Given the description of an element on the screen output the (x, y) to click on. 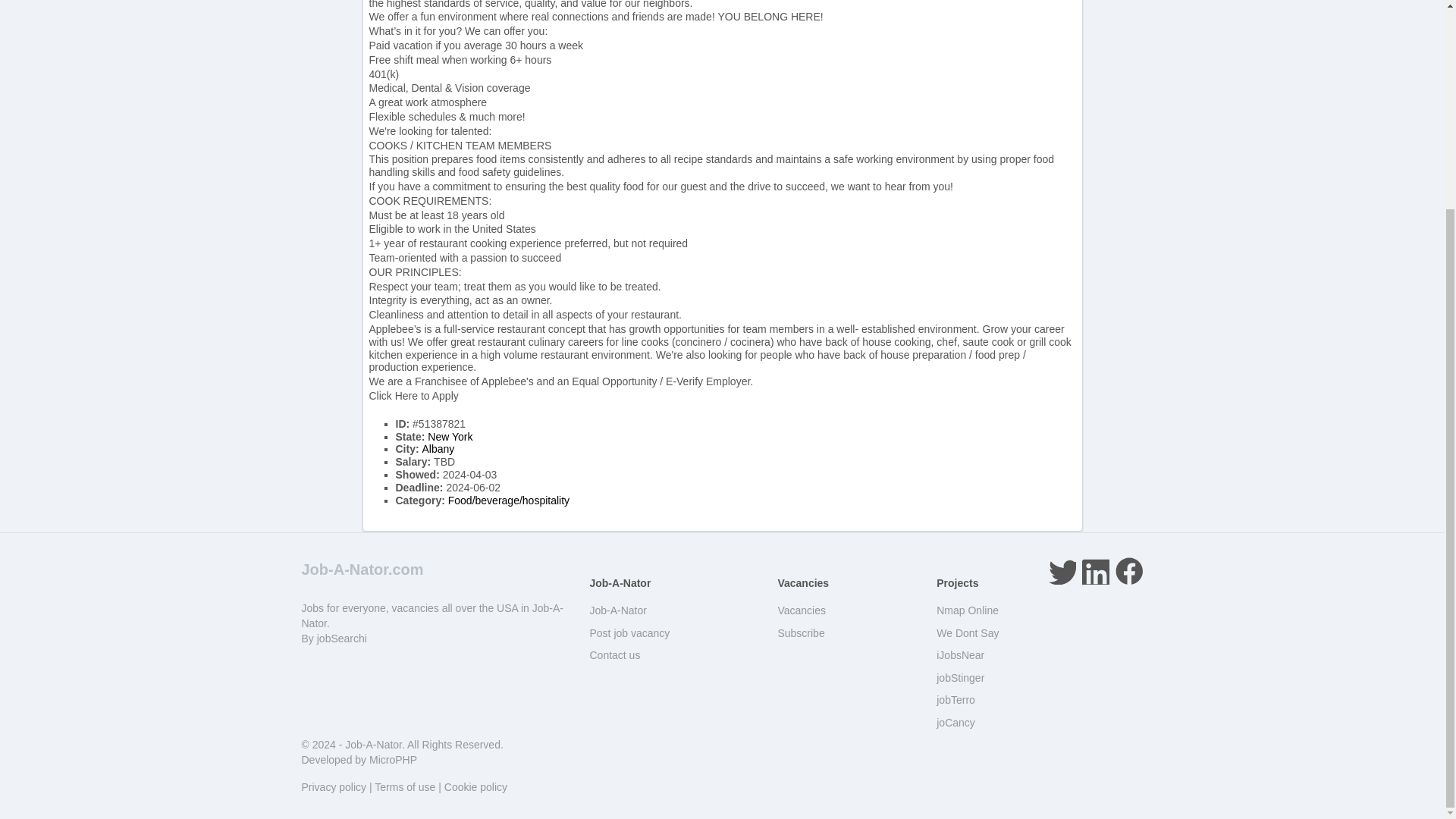
joCancy (955, 722)
We Dont Say (967, 633)
Job-A-Nator (373, 744)
Post job vacancy (629, 633)
Vacancies (801, 610)
Post job vacancy (629, 633)
Contact us (614, 654)
Privacy policy (333, 787)
MicroPHP (392, 759)
jobSearchi (341, 638)
Subscribe (800, 633)
Albany (438, 449)
Nmap Online (967, 610)
ijobsnear.com (960, 654)
jobStinger (960, 677)
